Given the description of an element on the screen output the (x, y) to click on. 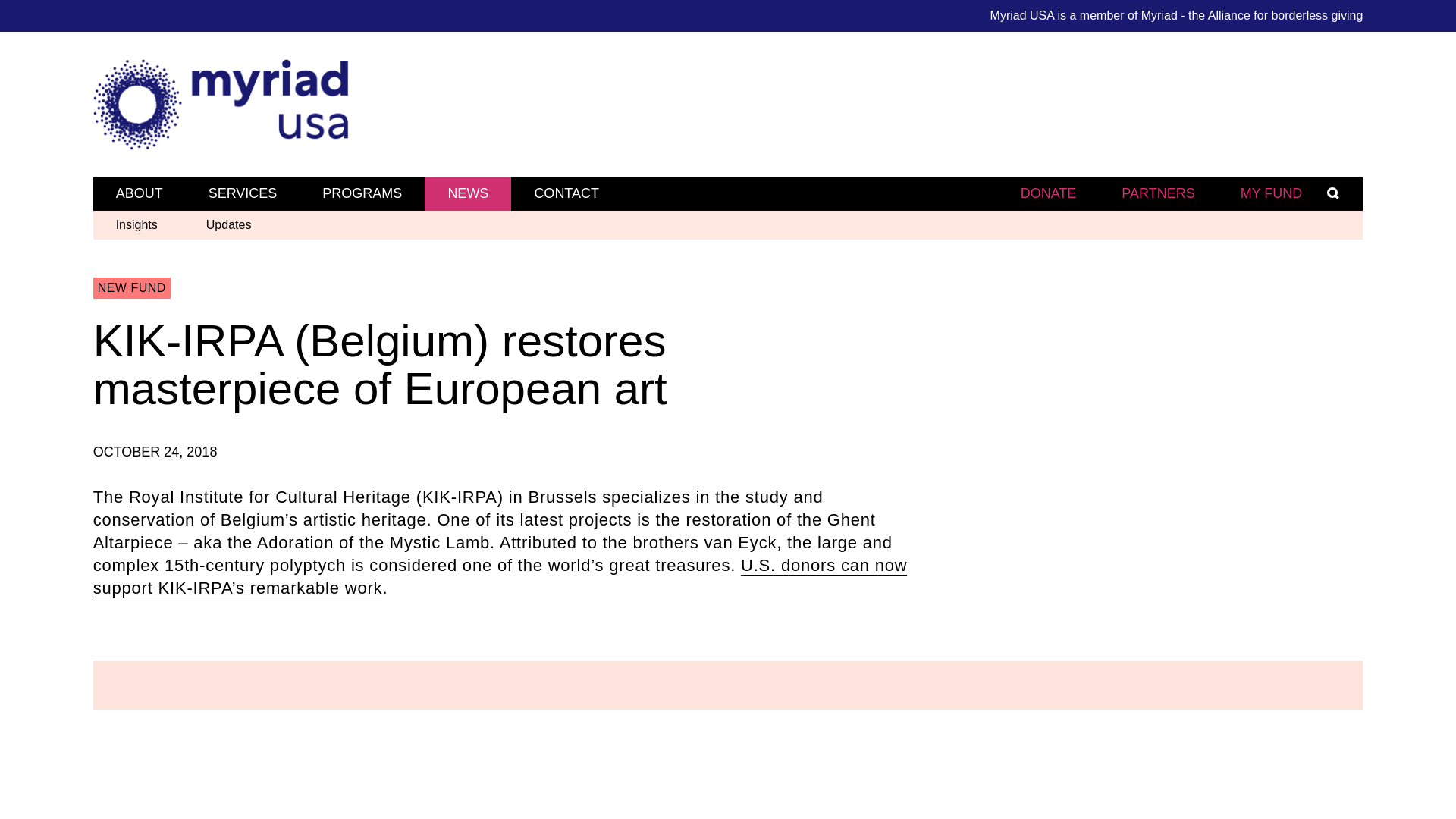
CONTACT (566, 193)
ABOUT (139, 193)
Myriad USA (727, 104)
SERVICES (242, 193)
DONATE (1048, 192)
SEARCH (1352, 192)
Updates (228, 225)
PARTNERS (1158, 192)
PROGRAMS (362, 193)
Royal Institute for Cultural Heritage (269, 496)
Insights (136, 225)
NEWS (468, 193)
MY FUND (1270, 192)
Search (898, 7)
